Given the description of an element on the screen output the (x, y) to click on. 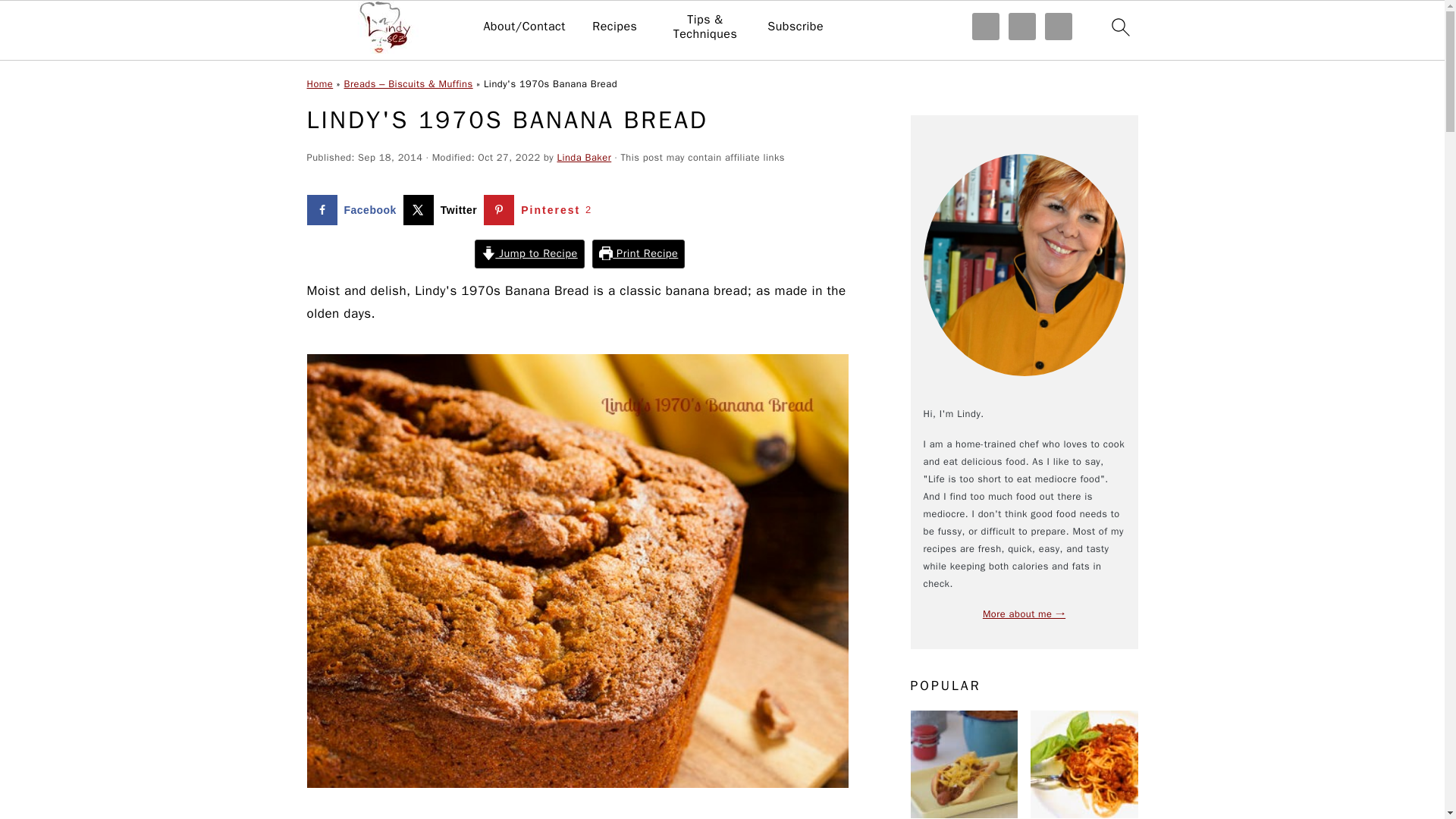
Recipes (614, 26)
Home (319, 83)
Twitter (443, 209)
search icon (1119, 31)
Share on Facebook (354, 209)
Facebook (354, 209)
Save to Pinterest (540, 209)
Linda Baker (584, 157)
Share on X (443, 209)
Subscribe (795, 26)
search icon (1119, 26)
